Given the description of an element on the screen output the (x, y) to click on. 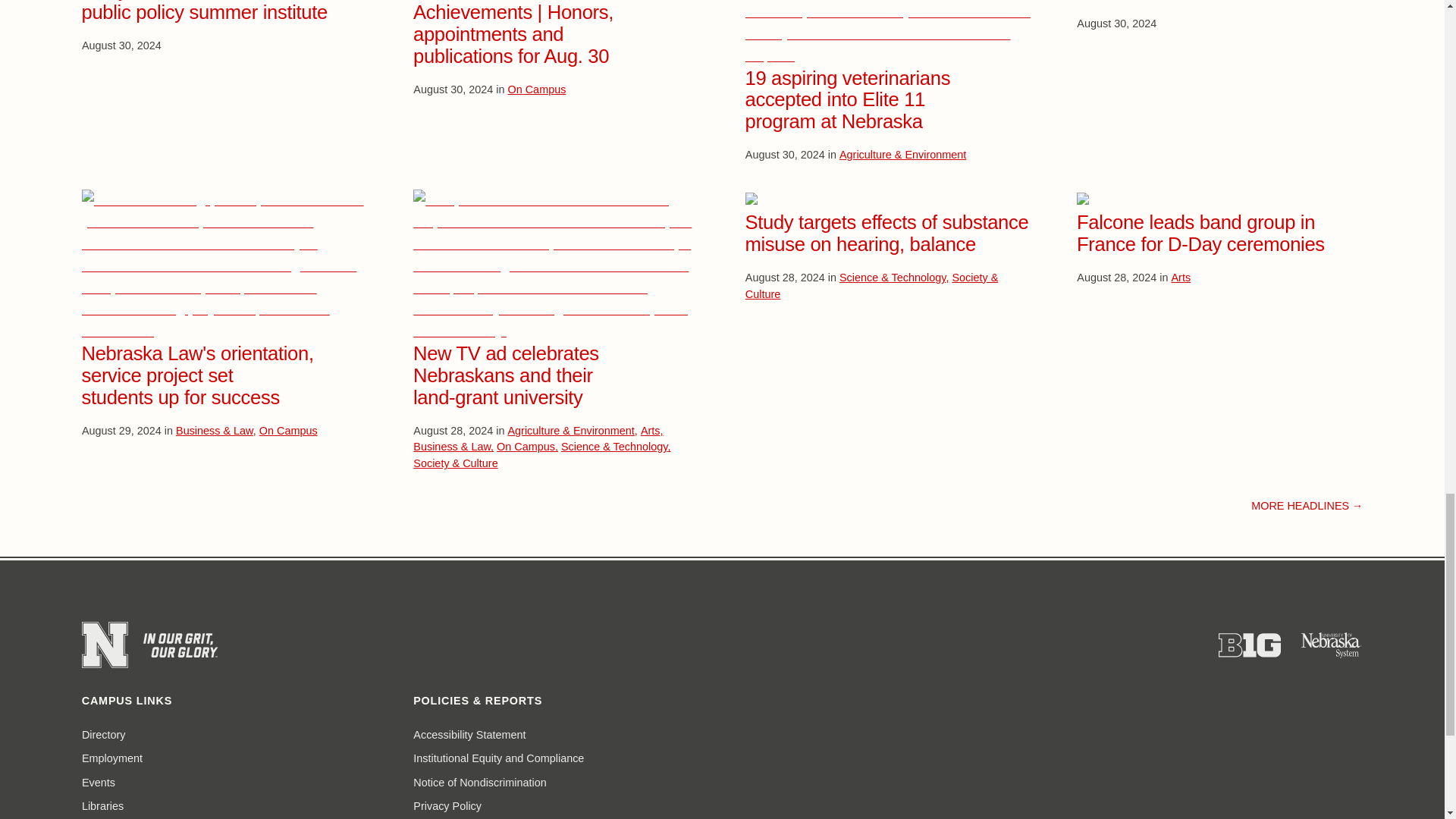
Alsayid broadens horizons at public policy summer institute (204, 11)
On Campus (537, 89)
